Given the description of an element on the screen output the (x, y) to click on. 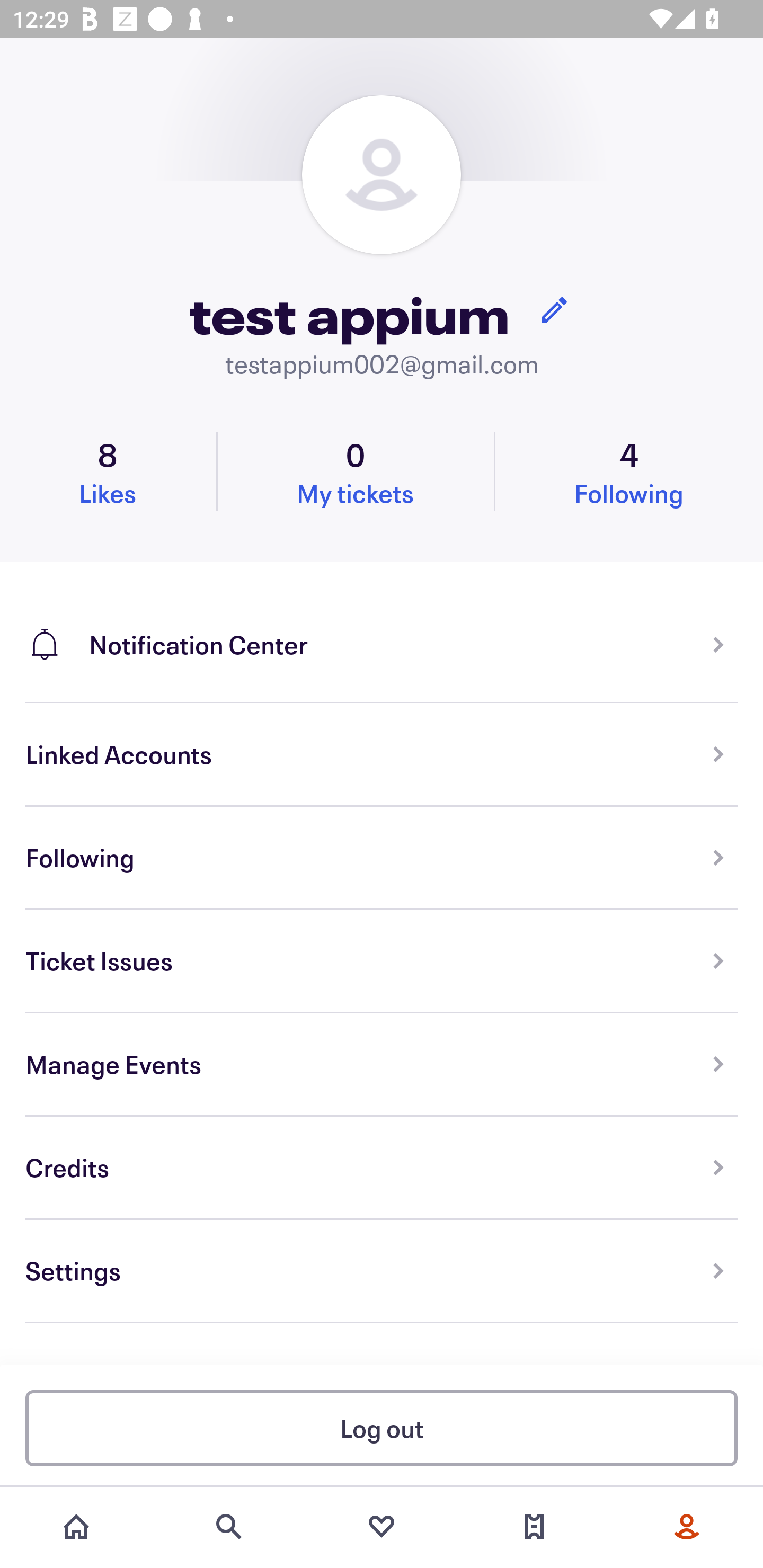
test appium testappium002@gmail.com (381, 238)
8 Likes (107, 470)
0 My tickets (355, 470)
4 Following (629, 470)
Notification Center (381, 632)
Linked Accounts (381, 755)
Following (381, 858)
Ticket Issues (381, 960)
Manage Events (381, 1064)
Credits (381, 1167)
Settings (381, 1271)
Log out (381, 1427)
Home (76, 1526)
Search events (228, 1526)
Favorites (381, 1526)
Tickets (533, 1526)
More (686, 1526)
